Given the description of an element on the screen output the (x, y) to click on. 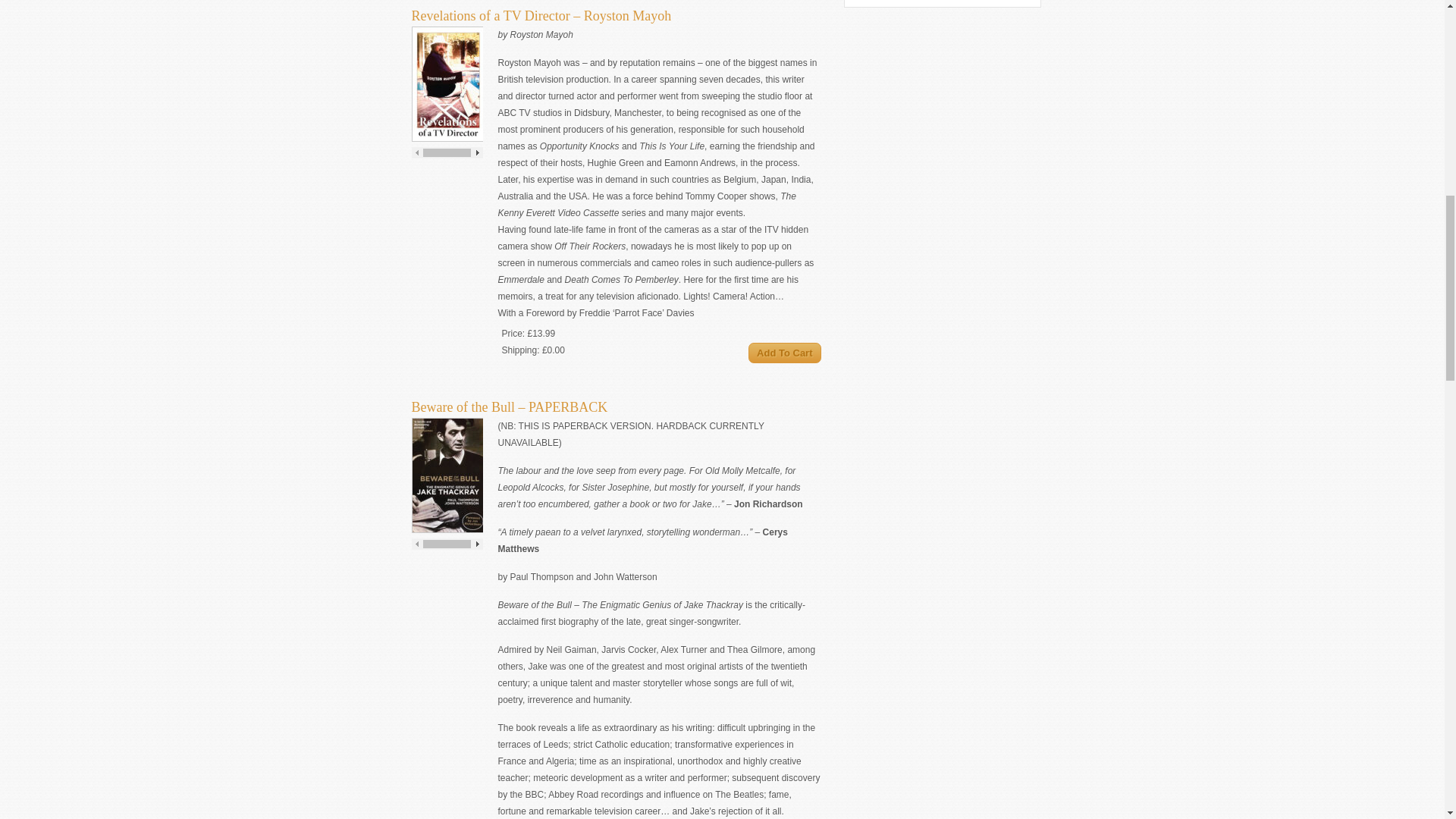
Add To Cart (784, 353)
